Given the description of an element on the screen output the (x, y) to click on. 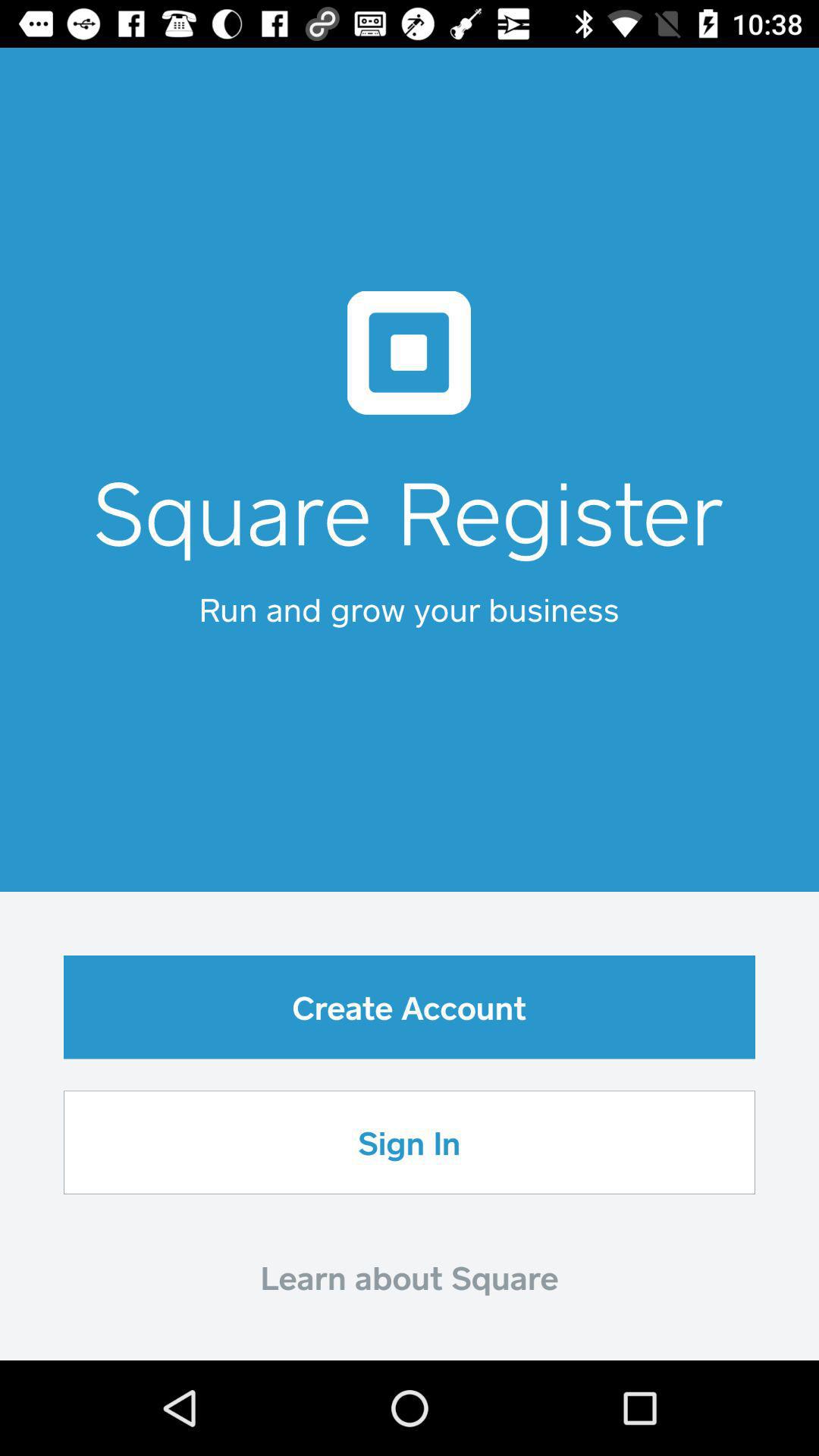
jump until the learn about square (409, 1277)
